Given the description of an element on the screen output the (x, y) to click on. 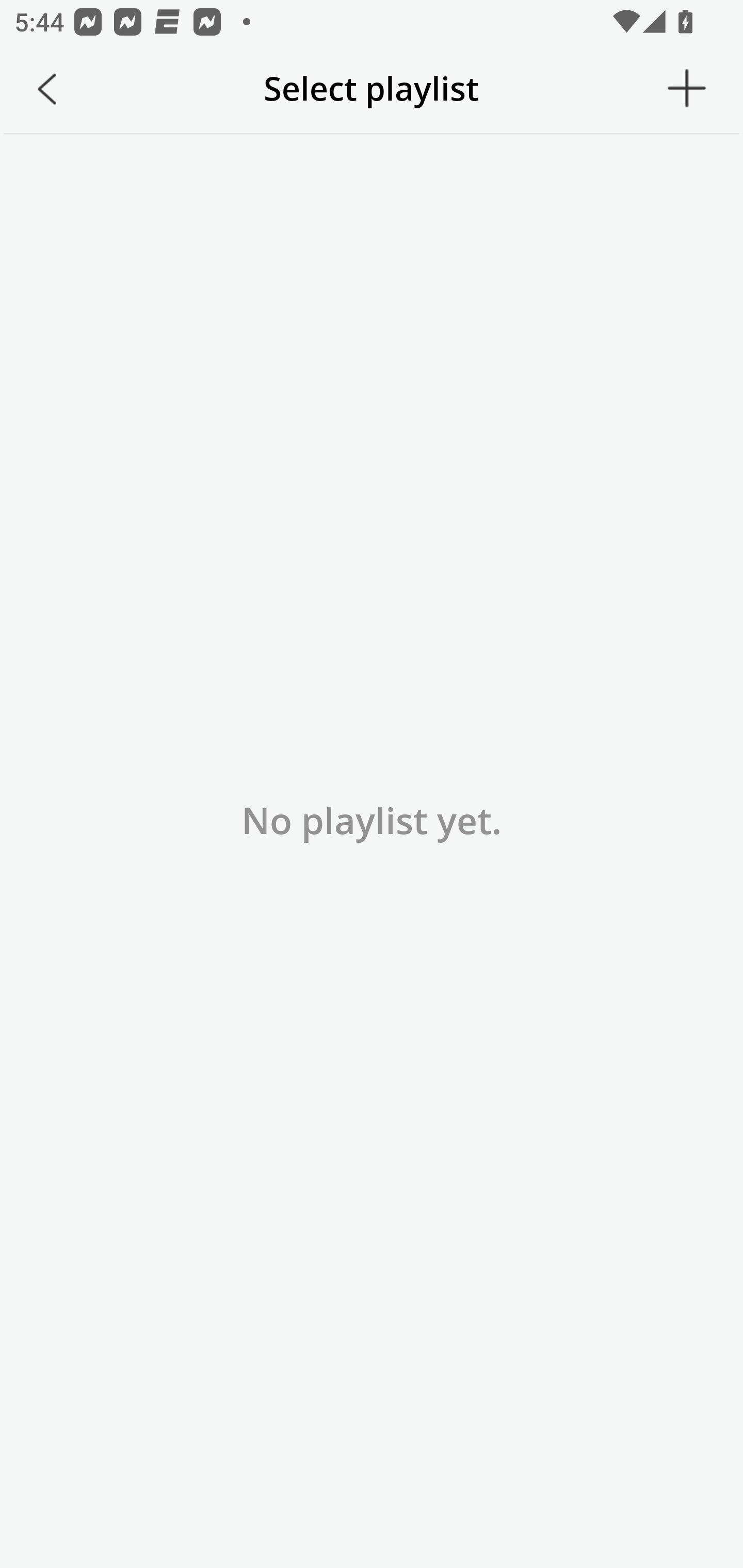
Back (46, 88)
